Given the description of an element on the screen output the (x, y) to click on. 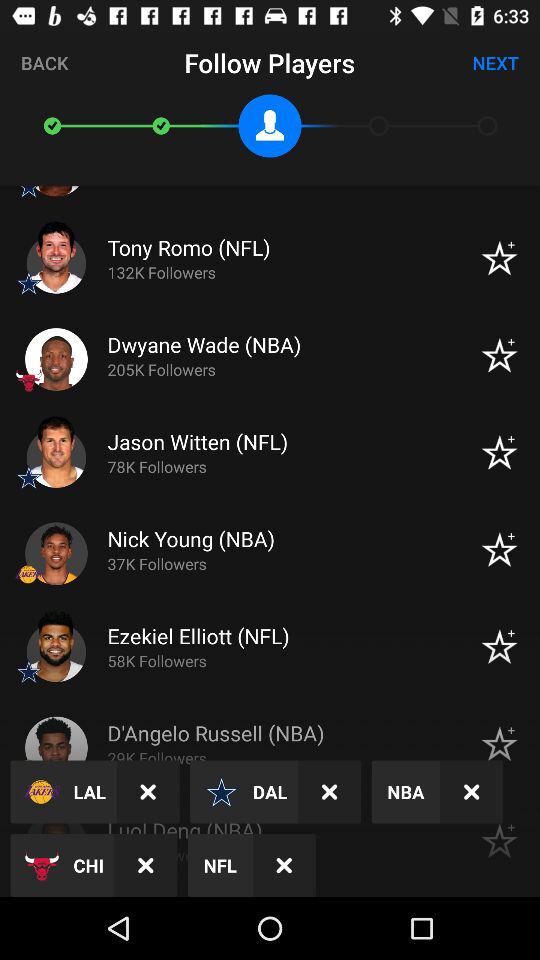
turn on the icon to the right of the dal (329, 791)
